Given the description of an element on the screen output the (x, y) to click on. 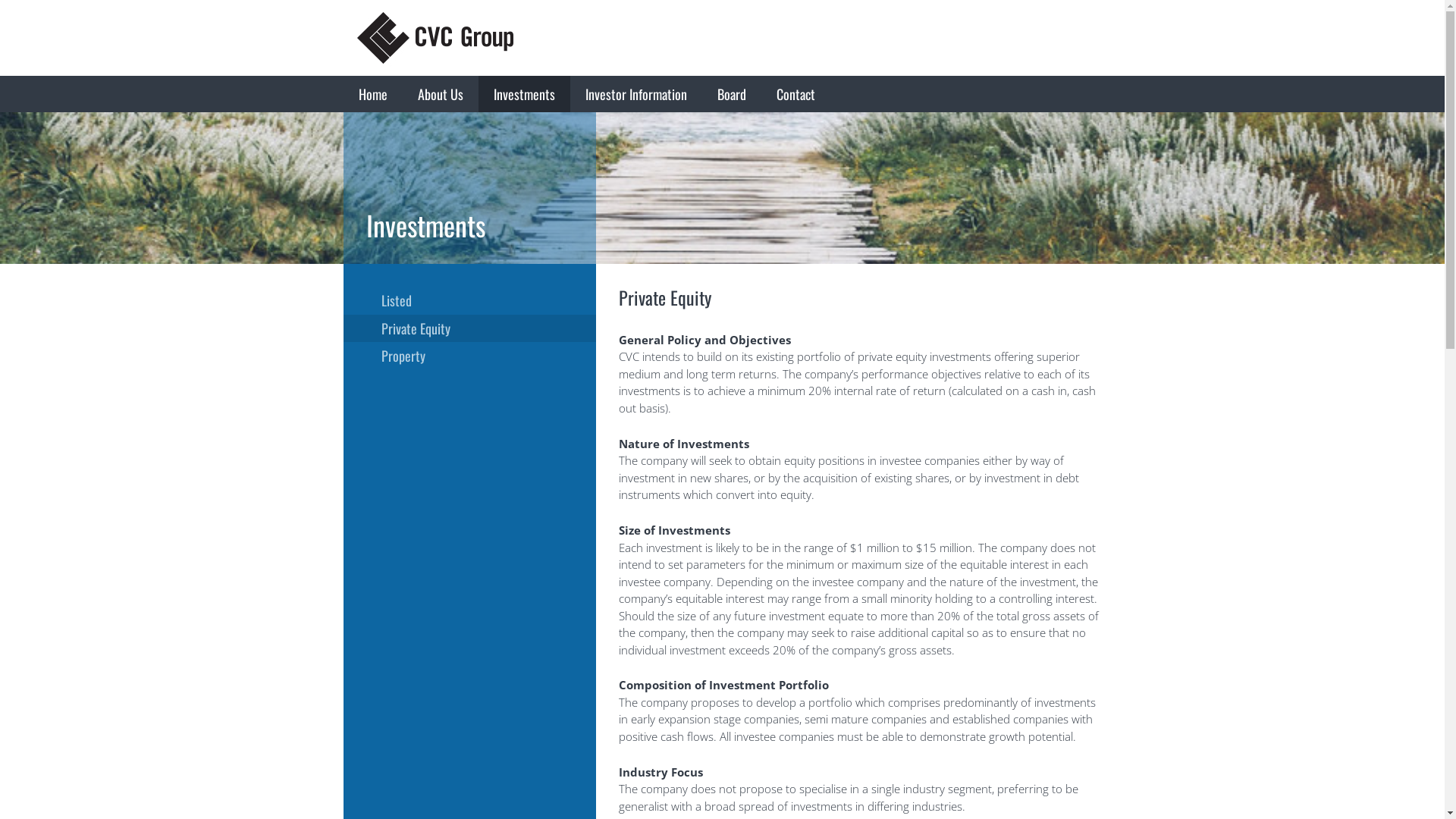
About Us Element type: text (439, 93)
Home Element type: text (371, 93)
Property Element type: text (468, 356)
Contact Element type: text (795, 93)
Listed Element type: text (468, 300)
Investments Element type: text (523, 93)
Private Equity Element type: text (468, 327)
Board Element type: text (731, 93)
Investor Information Element type: text (636, 93)
